Given the description of an element on the screen output the (x, y) to click on. 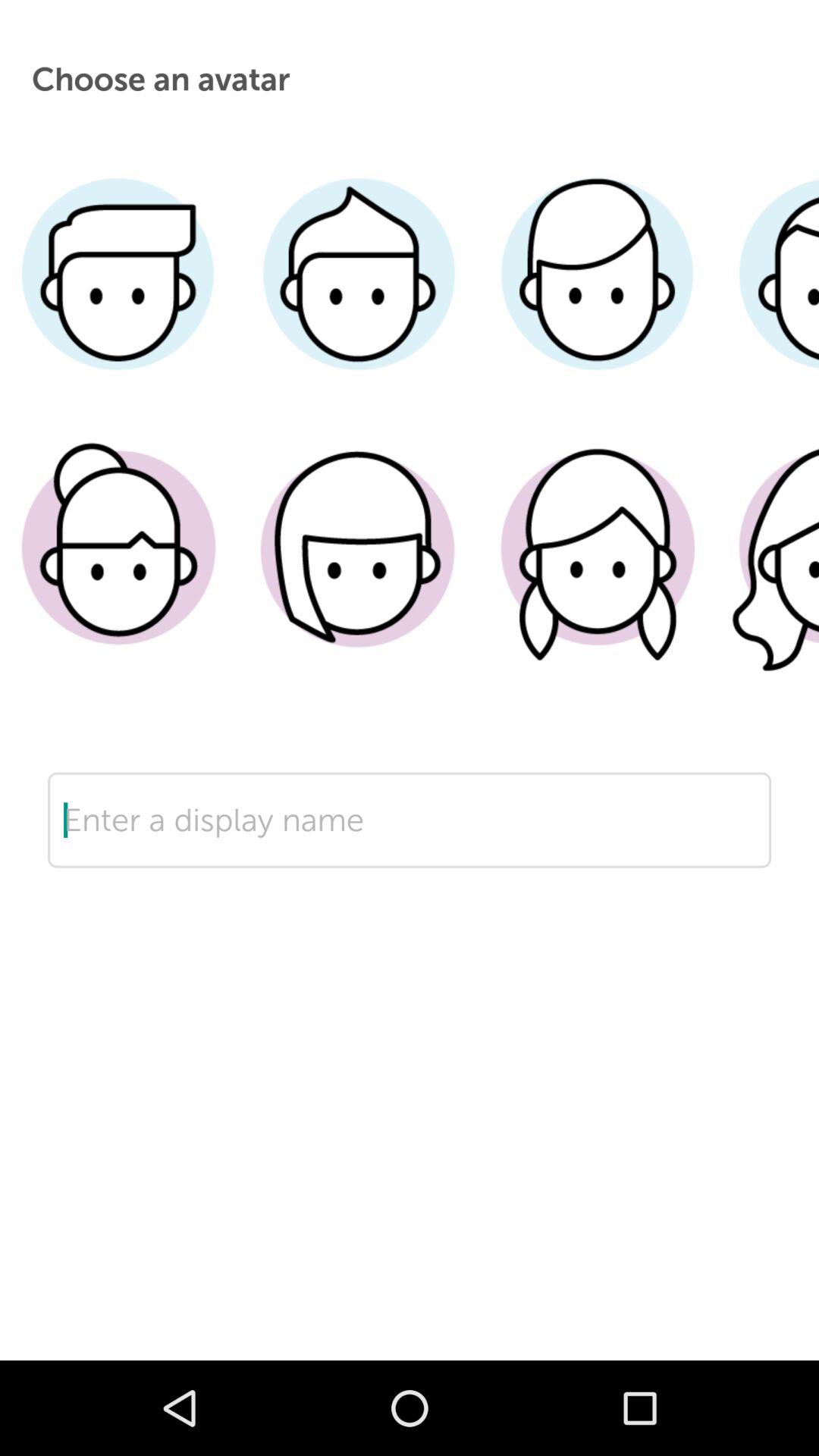
chooses the avatar (119, 570)
